Given the description of an element on the screen output the (x, y) to click on. 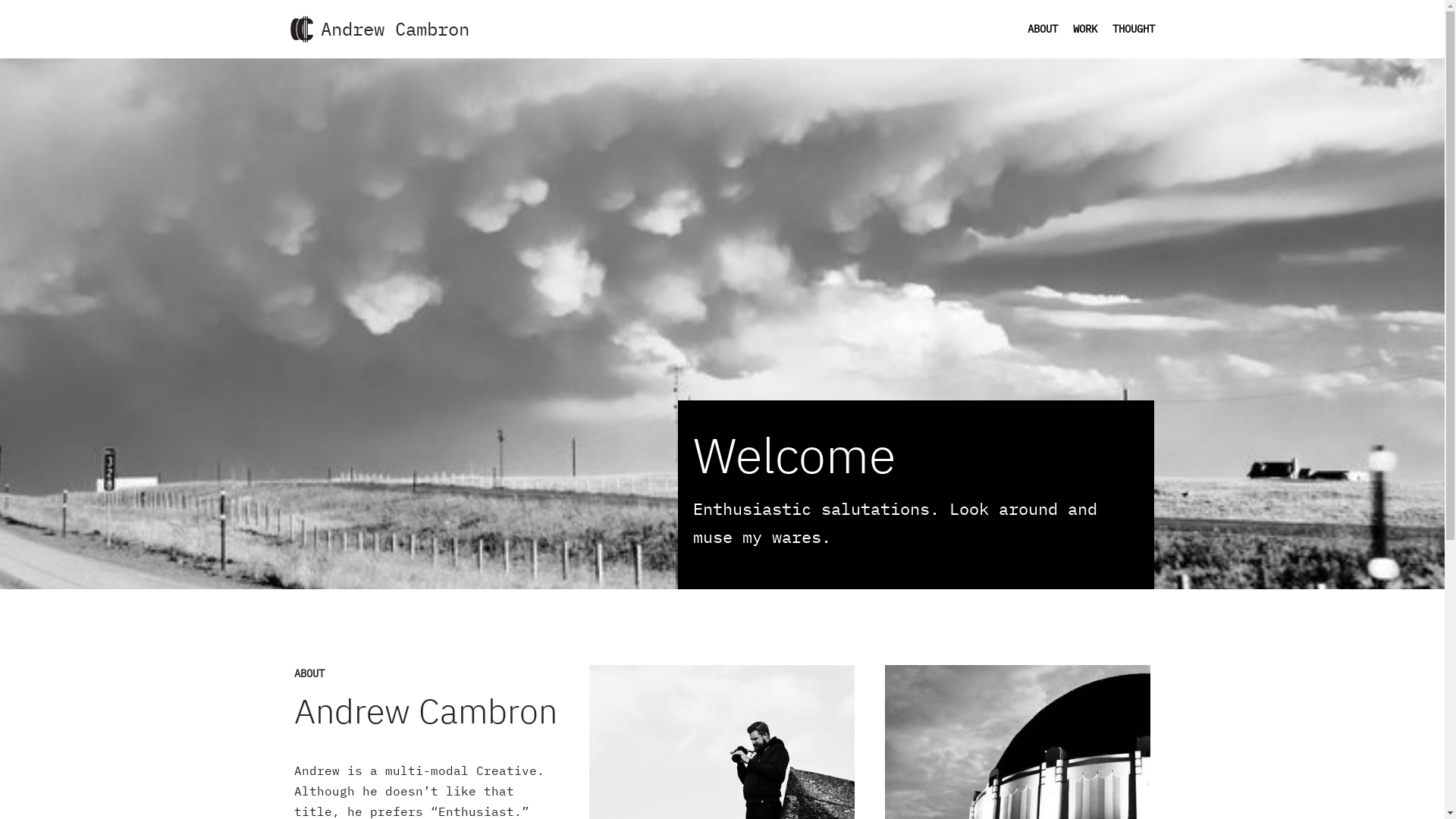
Andrew Cambron Element type: text (378, 28)
WORK Element type: text (1084, 28)
ABOUT Element type: text (1041, 28)
THOUGHT Element type: text (1132, 28)
Skip to content Element type: text (11, 31)
